Given the description of an element on the screen output the (x, y) to click on. 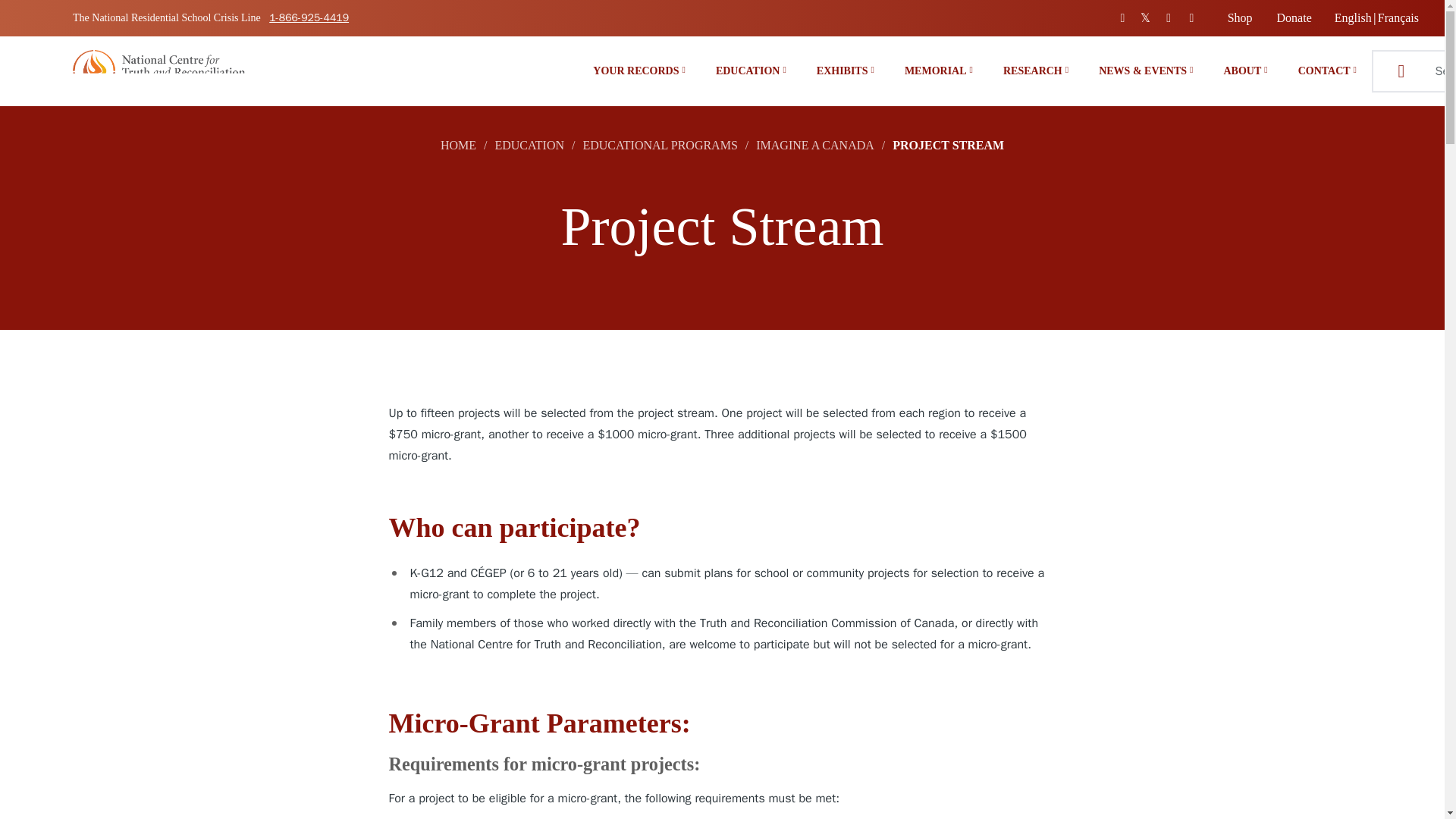
Go to NCTR. (458, 144)
Shop (1240, 18)
1-866-925-4419 (309, 17)
Go to Imagine a Canada. (815, 144)
English (1353, 18)
Donate (1294, 18)
English (1353, 18)
Go to Education. (529, 144)
Go to Educational Programs. (659, 144)
